Given the description of an element on the screen output the (x, y) to click on. 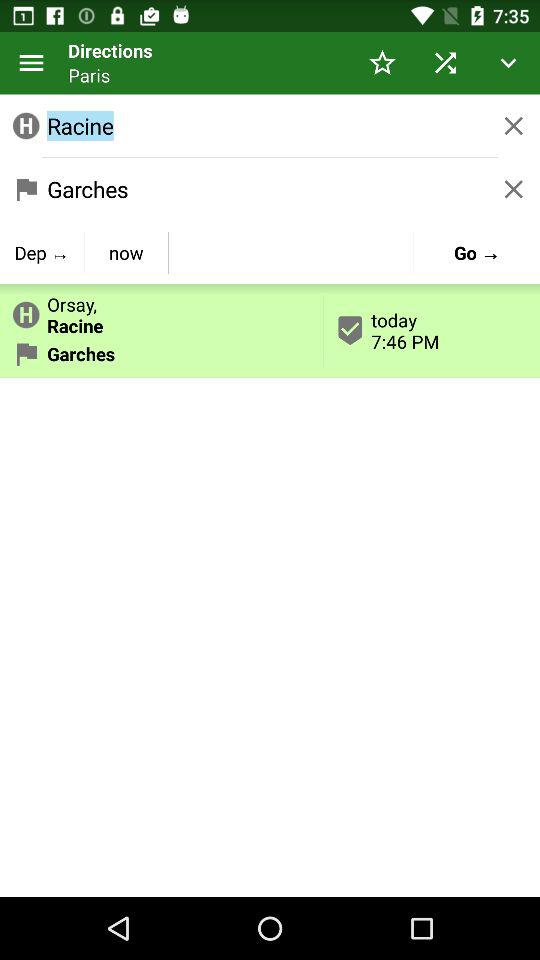
choose icon above orsay,
racine app (126, 252)
